Given the description of an element on the screen output the (x, y) to click on. 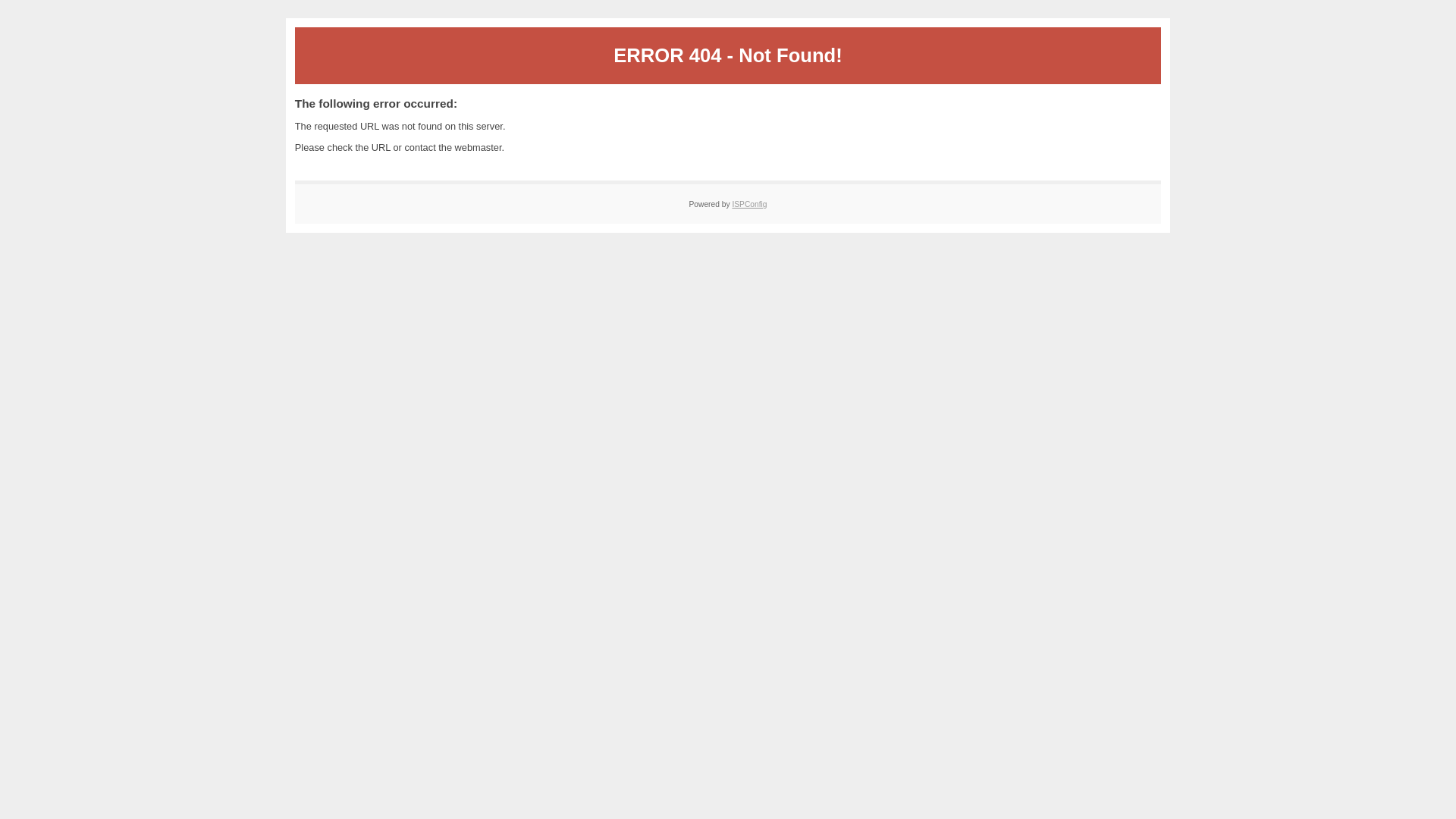
ISPConfig Element type: text (748, 204)
